Given the description of an element on the screen output the (x, y) to click on. 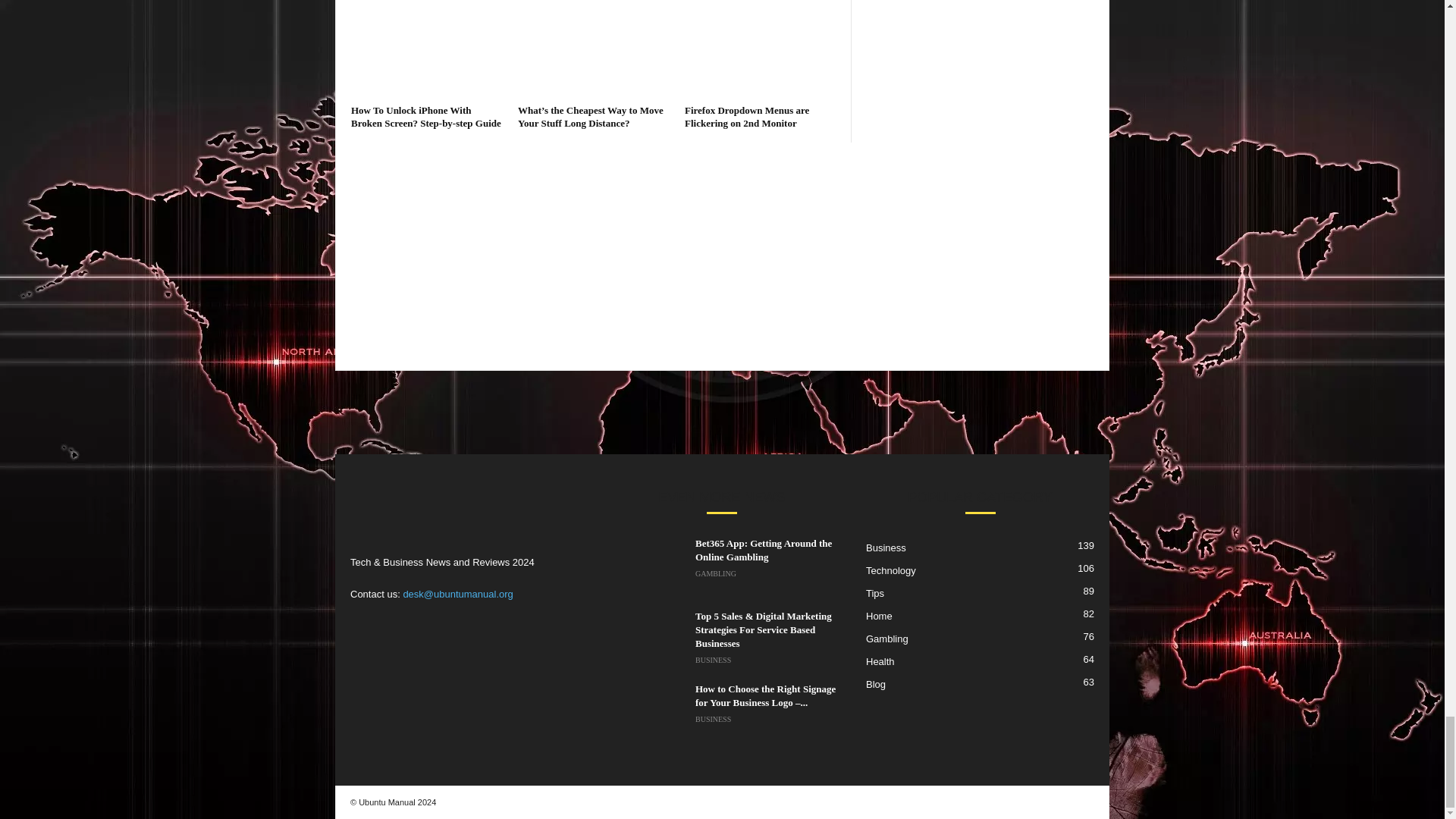
How To Unlock iPhone With Broken Screen? Step-by-step Guide (425, 116)
How To Unlock iPhone With Broken Screen? Step-by-step Guide (426, 49)
Firefox Dropdown Menus are Flickering on 2nd Monitor (759, 49)
